Given the description of an element on the screen output the (x, y) to click on. 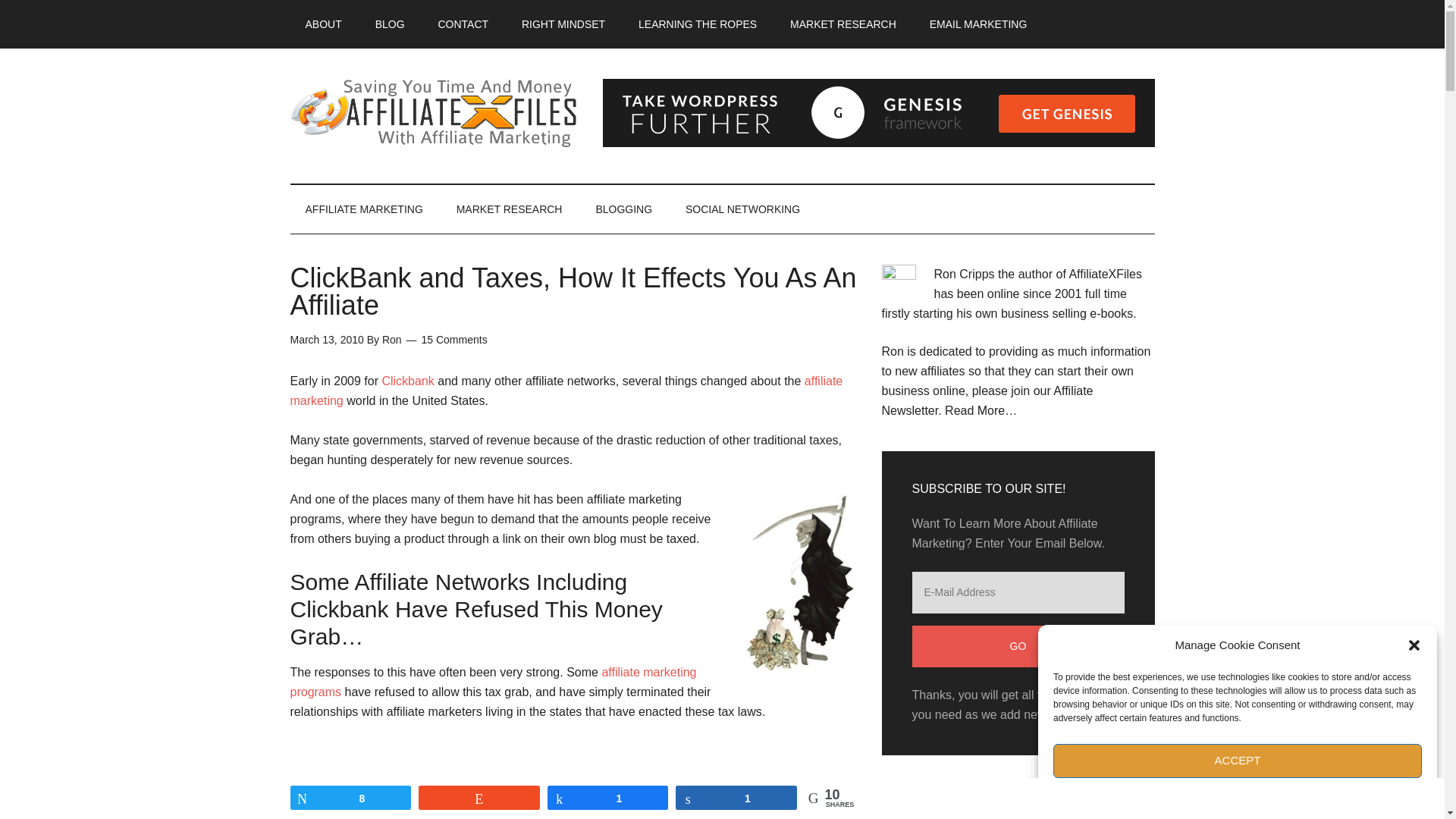
Cookie Policy (1218, 792)
MARKET RESEARCH (509, 209)
Contact Page (462, 24)
Advertisement (574, 780)
AFFILIATE MARKETING (363, 209)
Privacy (1268, 792)
Affiliate marketing (566, 390)
Why You Should Not Join Too Many Affiliate Programs (492, 681)
Having The Right Mindset For Affiliate Marketing (563, 24)
BLOGGING (622, 209)
BLOG (389, 24)
Affiliate Marketing Learning The Ropes (697, 24)
Email Marketing Building Trust and Relationships (978, 24)
LEARNING THE ROPES (697, 24)
